Given the description of an element on the screen output the (x, y) to click on. 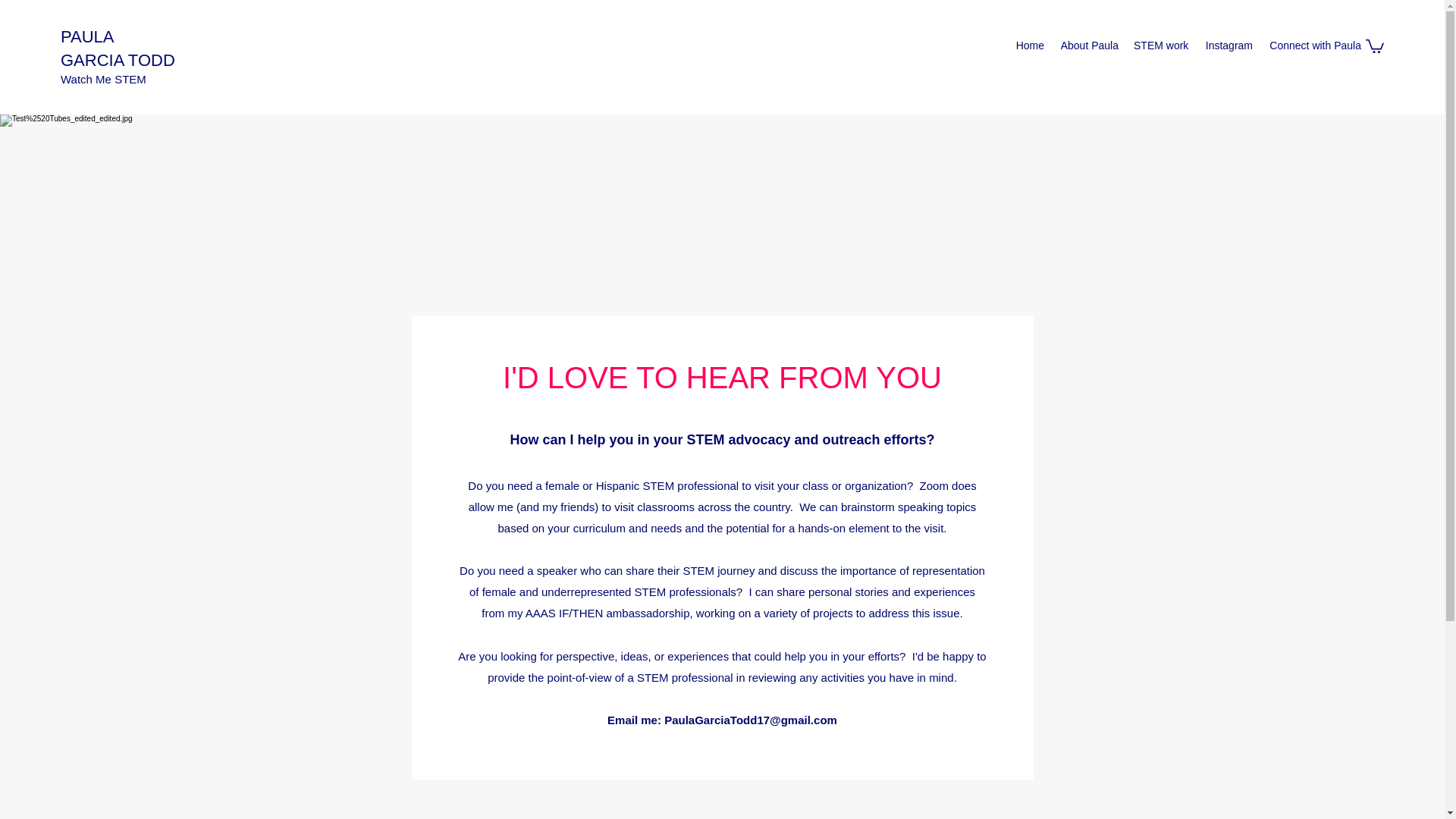
Connect with Paula (1314, 45)
About Paula (1088, 45)
Instagram (1227, 45)
STEM work (1160, 45)
Home (1029, 45)
